Given the description of an element on the screen output the (x, y) to click on. 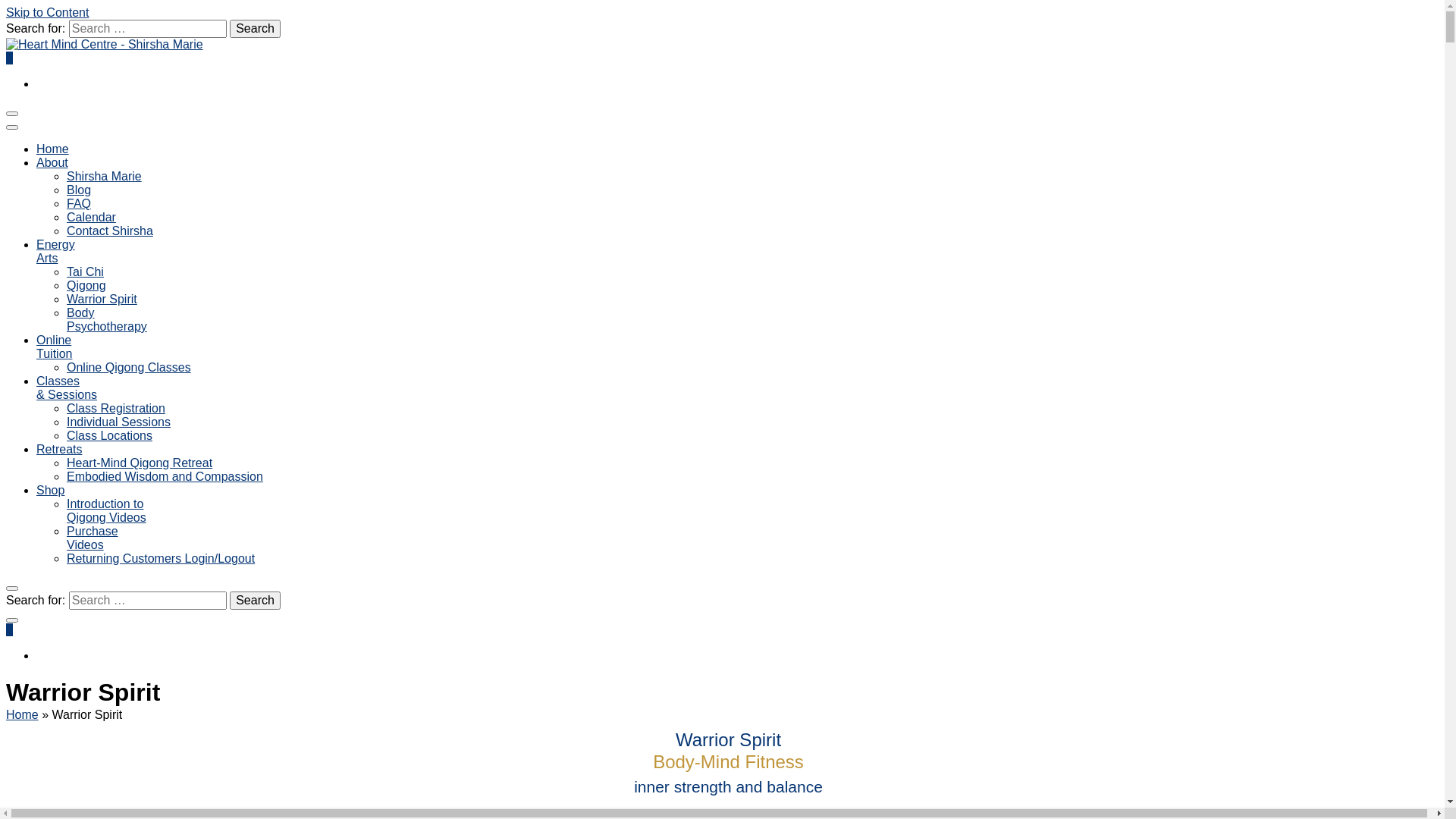
Embodied Wisdom and Compassion Element type: text (164, 476)
Classes
& Sessions Element type: text (66, 387)
Online
Tuition Element type: text (54, 346)
Skip to Content Element type: text (47, 12)
FAQ Element type: text (78, 203)
Tai Chi Element type: text (84, 271)
Search Element type: text (254, 28)
Heart Mind Centre Element type: text (92, 84)
0 Element type: text (9, 57)
0 Element type: text (9, 629)
Contact Shirsha Element type: text (109, 230)
Purchase
Videos Element type: text (92, 537)
Class Locations Element type: text (109, 435)
Search Element type: text (254, 600)
Shirsha Marie Element type: text (103, 175)
Calendar Element type: text (91, 216)
Blog Element type: text (78, 189)
Class Registration Element type: text (115, 407)
Body
Psychotherapy Element type: text (106, 319)
Home Element type: text (22, 714)
Heart-Mind Qigong Retreat Element type: text (139, 462)
Retreats Element type: text (58, 448)
About Element type: text (52, 162)
Warrior Spirit Element type: text (101, 298)
Returning Customers Login/Logout Element type: text (160, 558)
Introduction to
Qigong Videos Element type: text (106, 510)
Shop Element type: text (50, 489)
Individual Sessions Element type: text (118, 421)
Home Element type: text (52, 148)
Online Qigong Classes Element type: text (128, 366)
Qigong Element type: text (86, 285)
Energy
Arts Element type: text (55, 251)
